Given the description of an element on the screen output the (x, y) to click on. 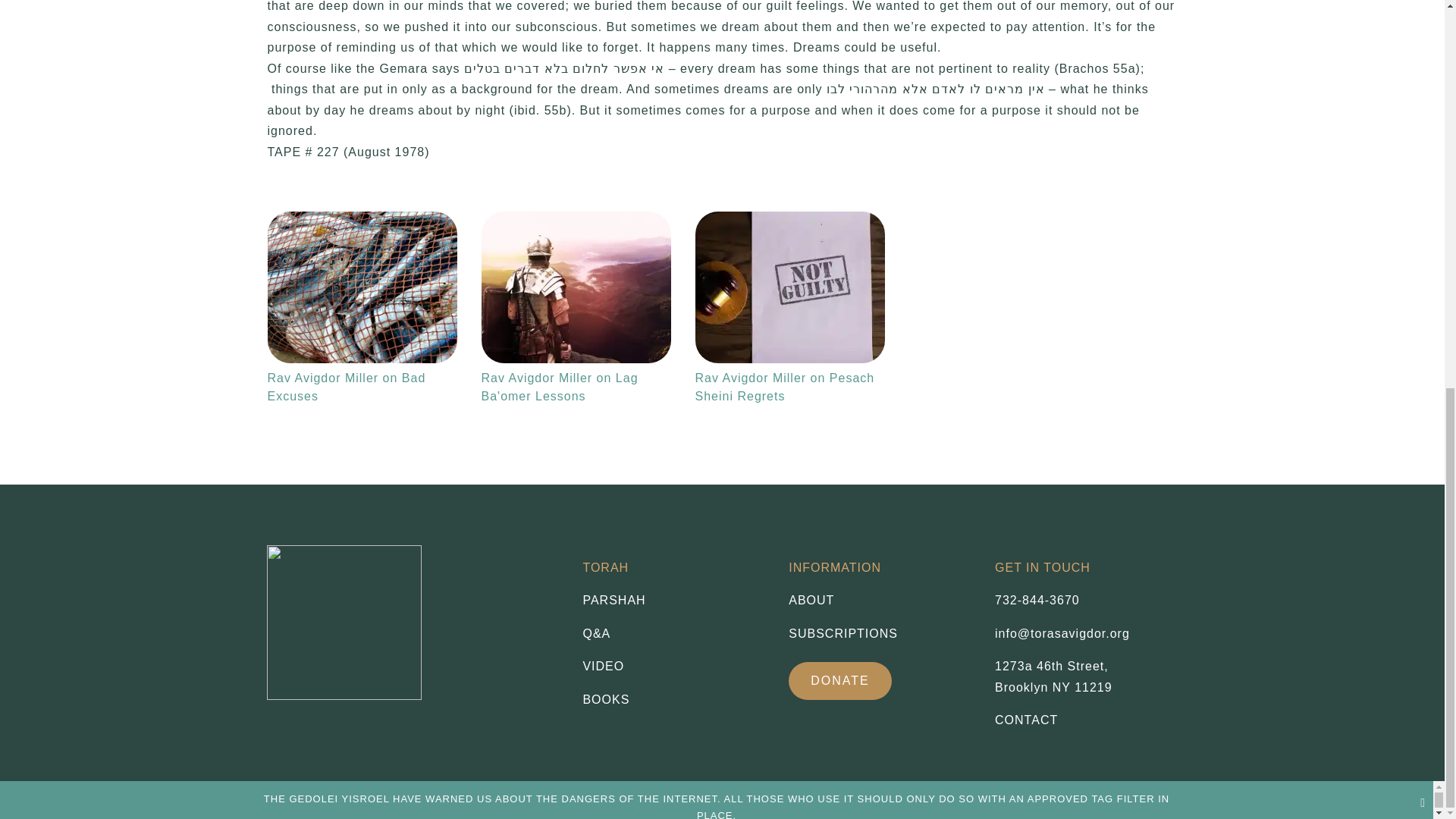
BOOKS (673, 699)
732-844-3670 (1037, 599)
Rav Avigdor Miller on Bad Excuses (361, 287)
Rav Avigdor Miller on Pesach Sheini Regrets (788, 287)
VIDEO (673, 666)
ABOUT (880, 599)
SUBSCRIPTIONS (880, 633)
Rav Avigdor Miller on Lag Ba'omer Lessons (574, 287)
footer-img (344, 622)
PARSHAH (673, 599)
DONATE (840, 680)
